Given the description of an element on the screen output the (x, y) to click on. 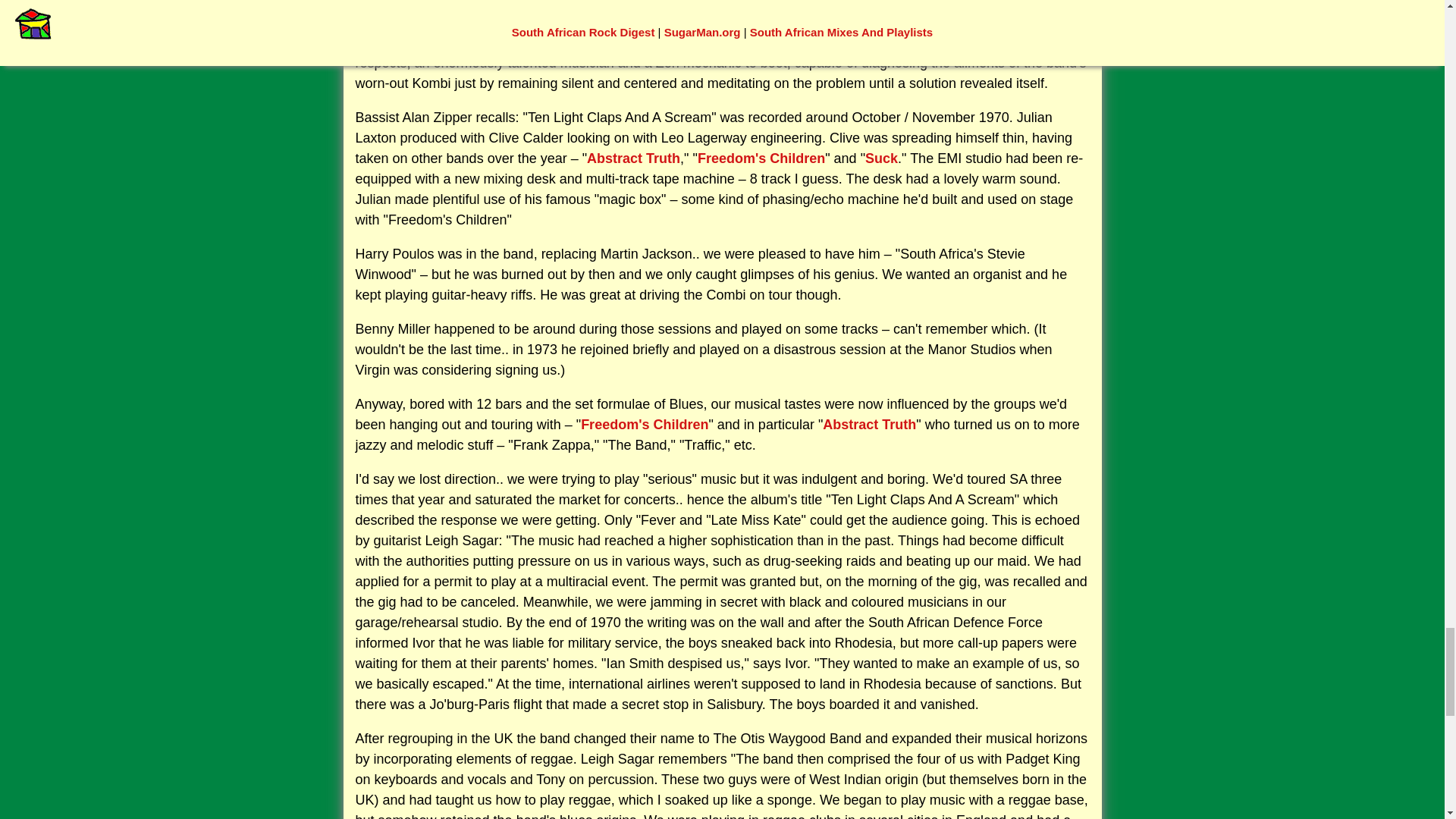
Abstract Truth (632, 158)
Abstract Truth (868, 424)
Suck (881, 158)
Freedom's Children (761, 158)
Freedom's Children (643, 424)
